Given the description of an element on the screen output the (x, y) to click on. 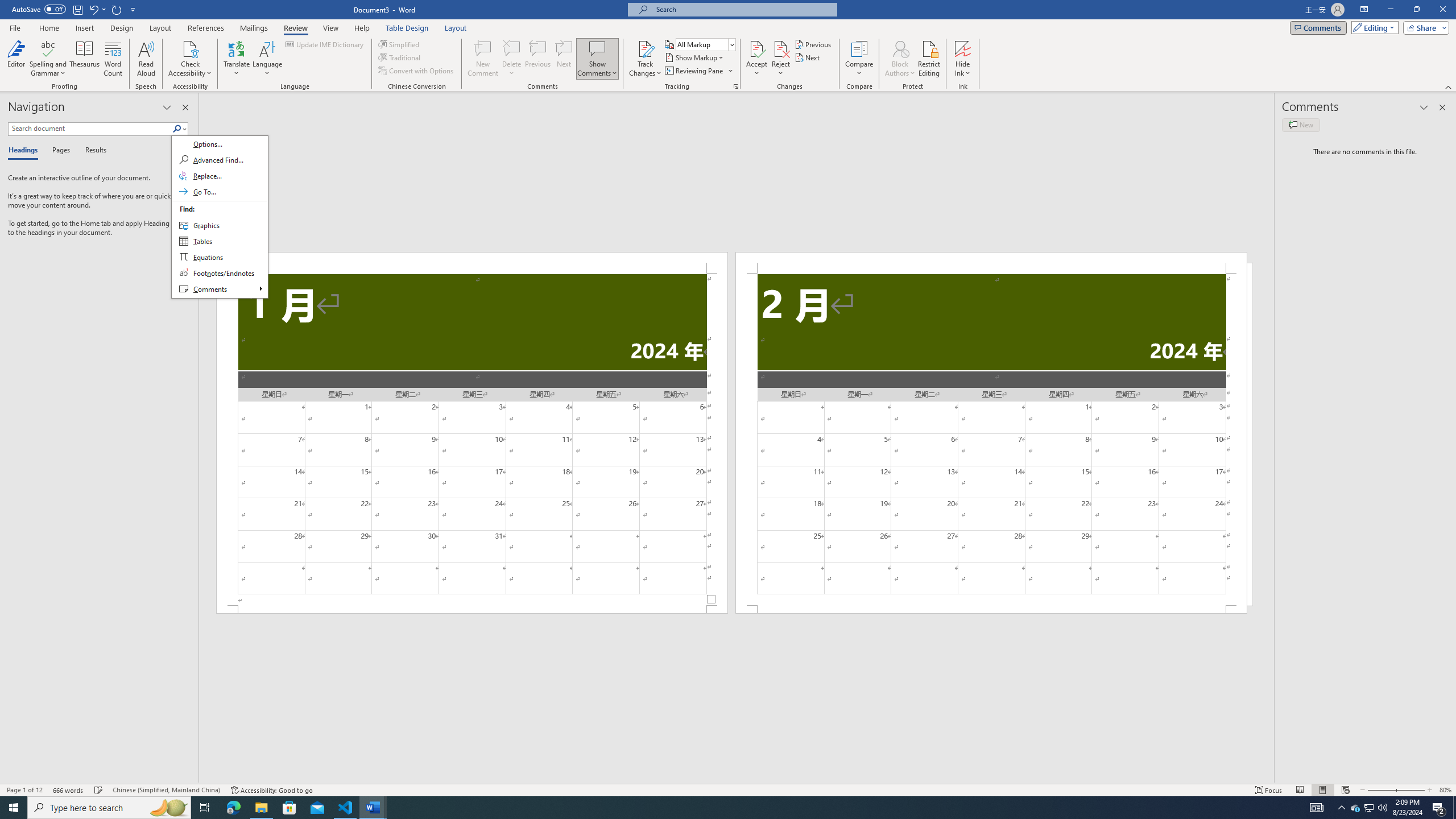
Running applications (717, 807)
New comment (1300, 124)
Show Markup (695, 56)
Reject (780, 58)
